Given the description of an element on the screen output the (x, y) to click on. 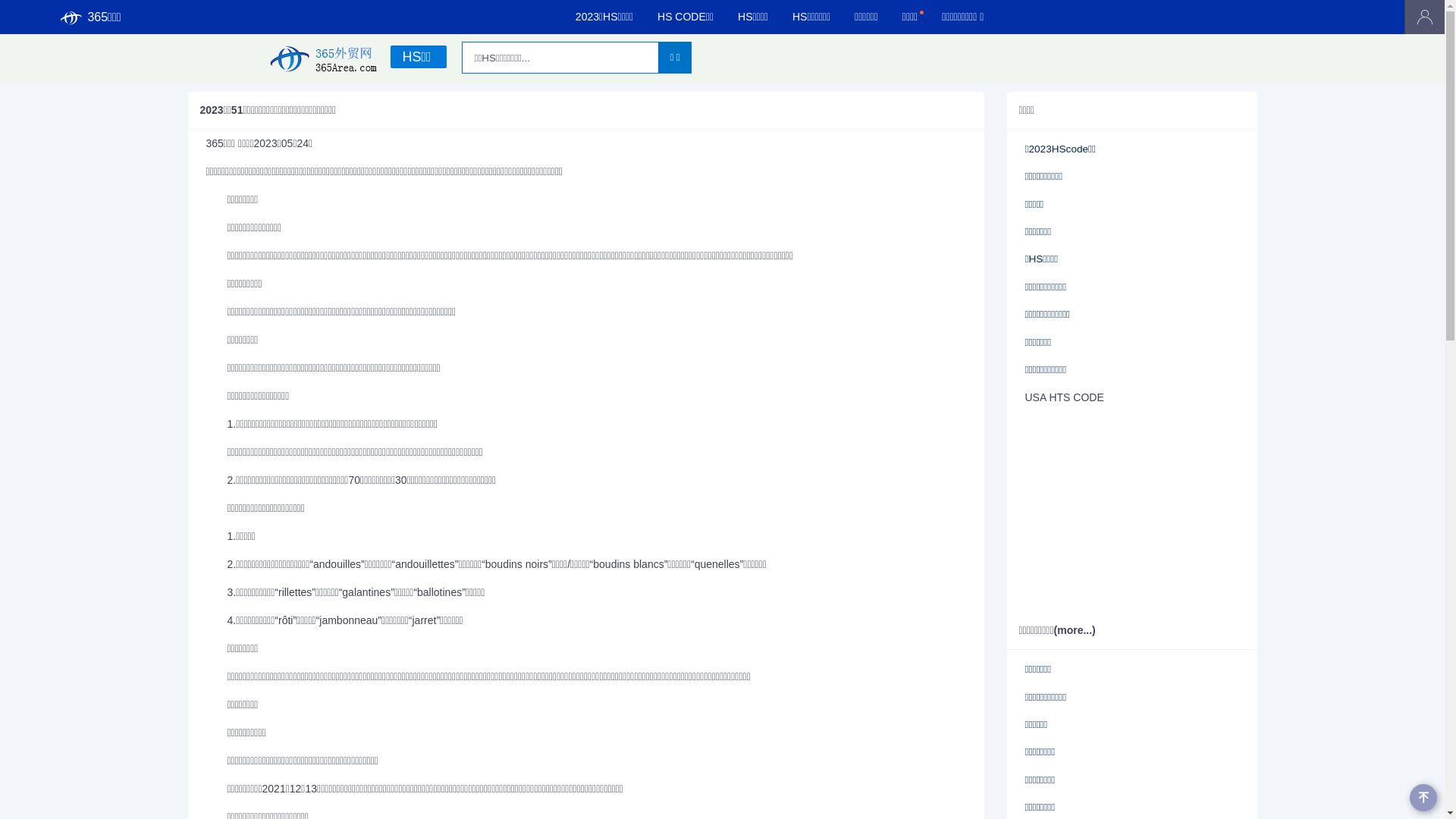
Advertisement Element type: hover (1120, 512)
Back to top Element type: hover (1423, 797)
USA HTS CODE Element type: text (1064, 397)
